Given the description of an element on the screen output the (x, y) to click on. 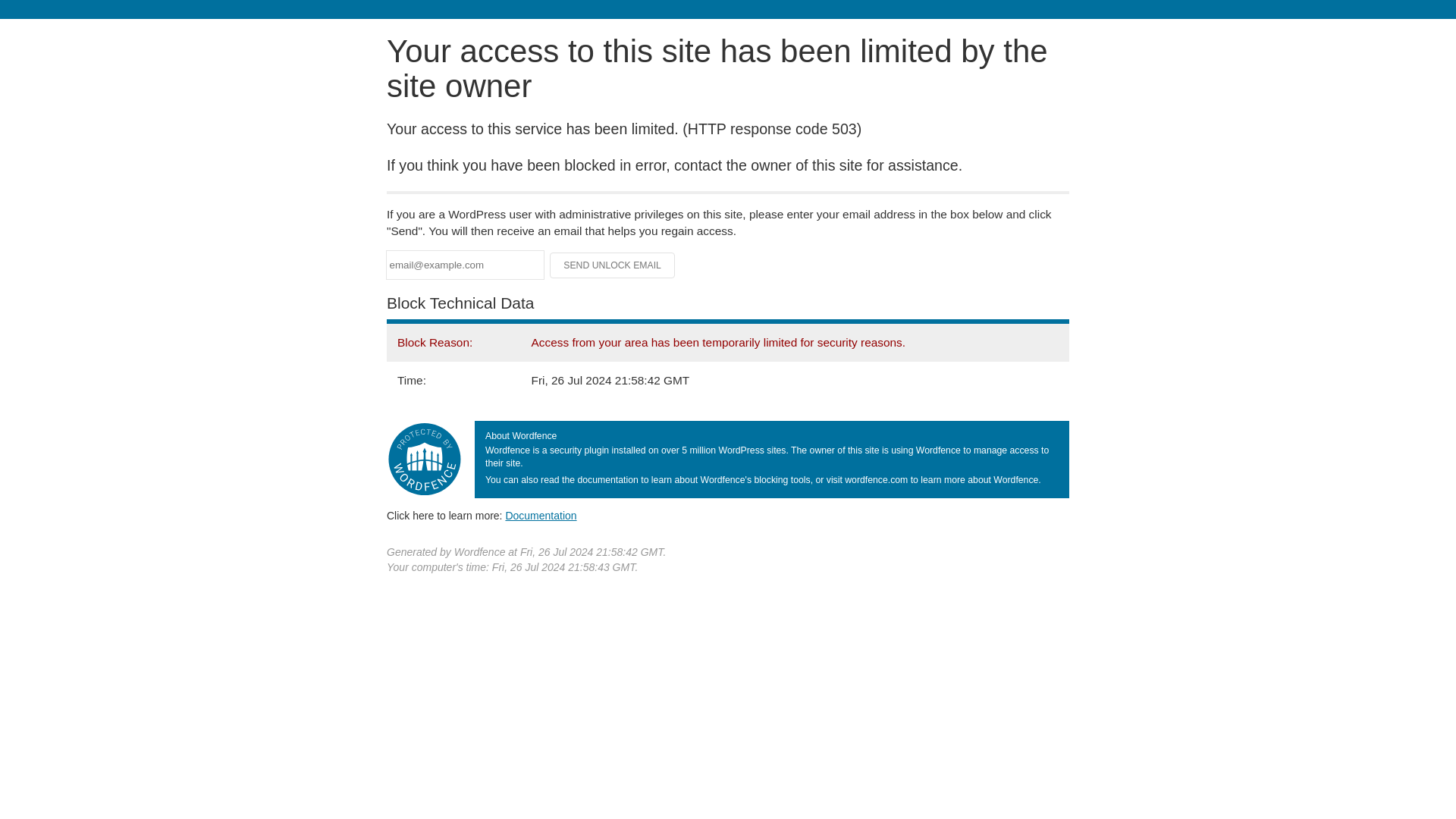
Send Unlock Email (612, 265)
Send Unlock Email (612, 265)
Documentation (540, 515)
